Given the description of an element on the screen output the (x, y) to click on. 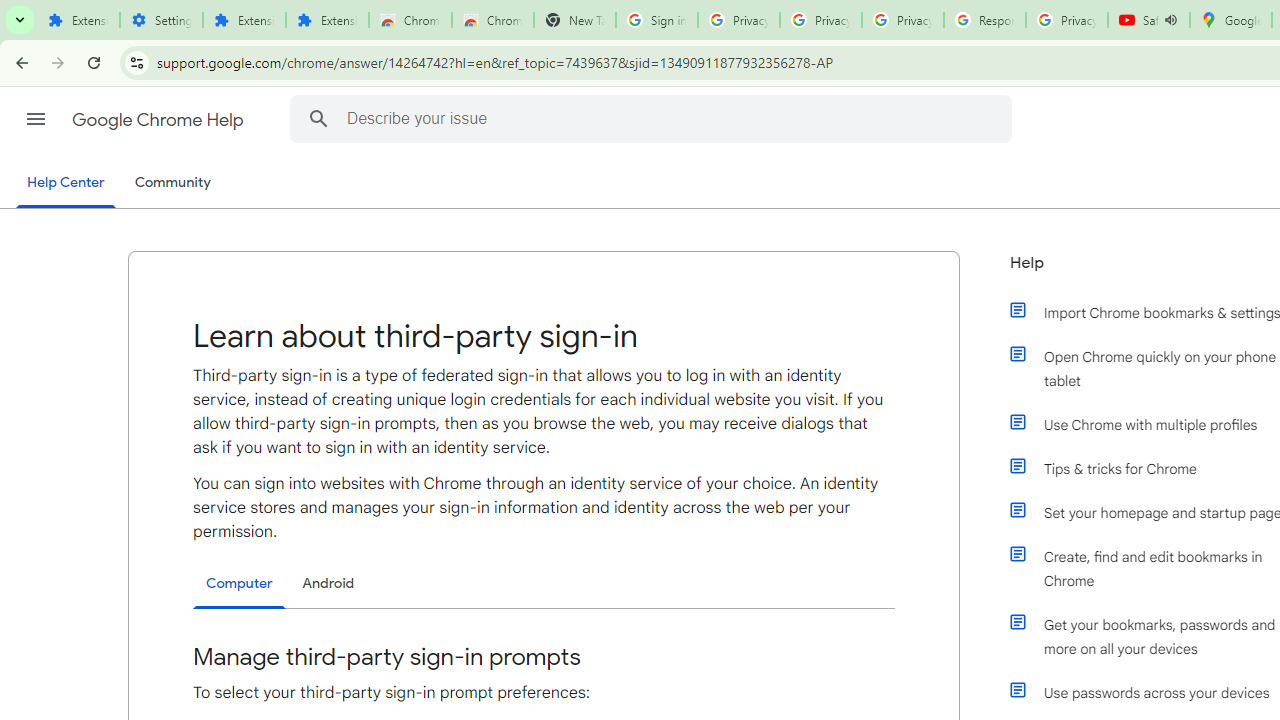
Google Chrome Help (159, 119)
Extensions (326, 20)
Describe your issue (653, 118)
Android (328, 583)
Chrome Web Store (409, 20)
Main menu (35, 119)
Mute tab (1170, 20)
Help Center (65, 183)
Search Help Center (318, 118)
